Given the description of an element on the screen output the (x, y) to click on. 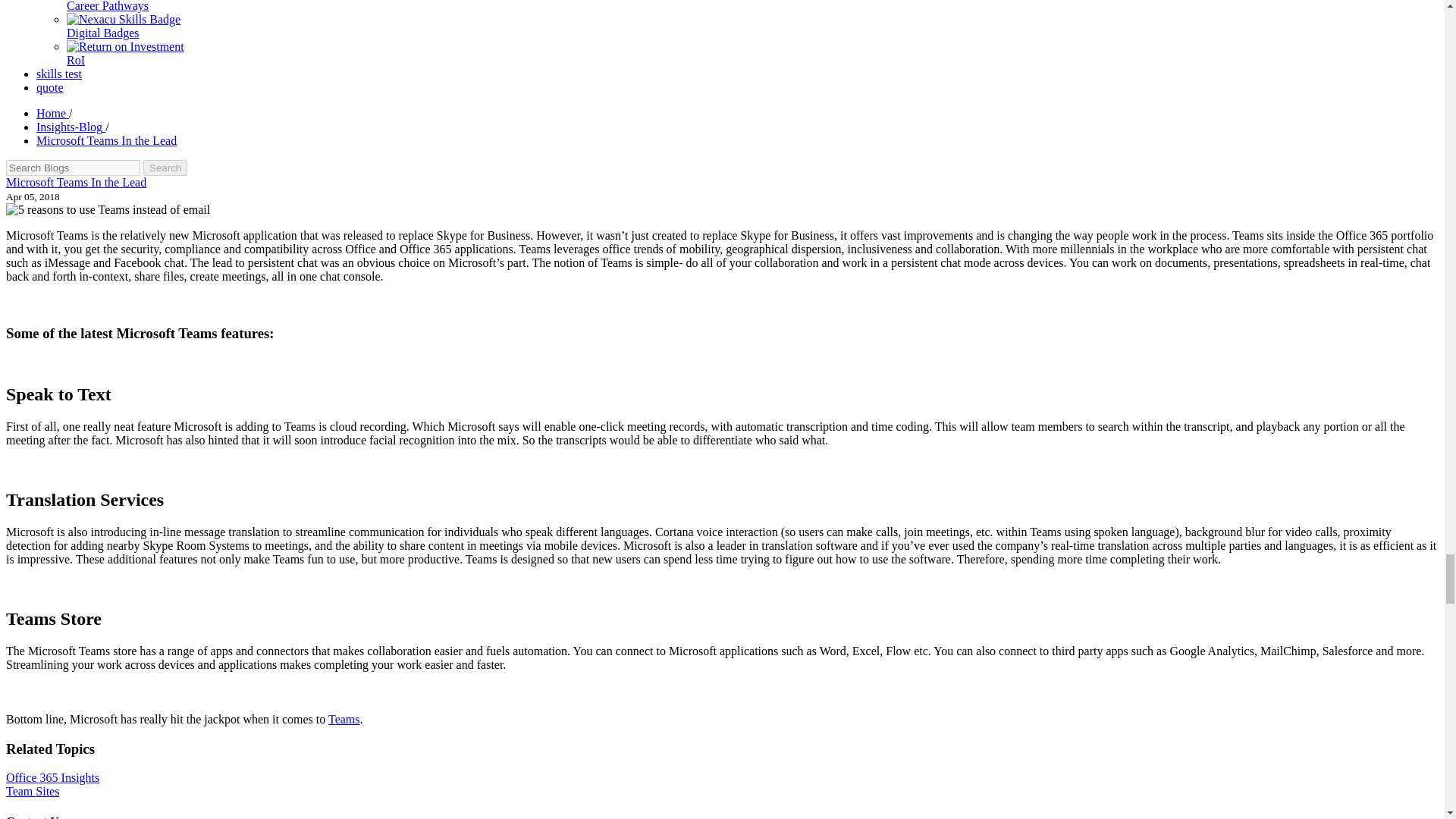
Microsoft Office 365 Training Courses (344, 718)
